Given the description of an element on the screen output the (x, y) to click on. 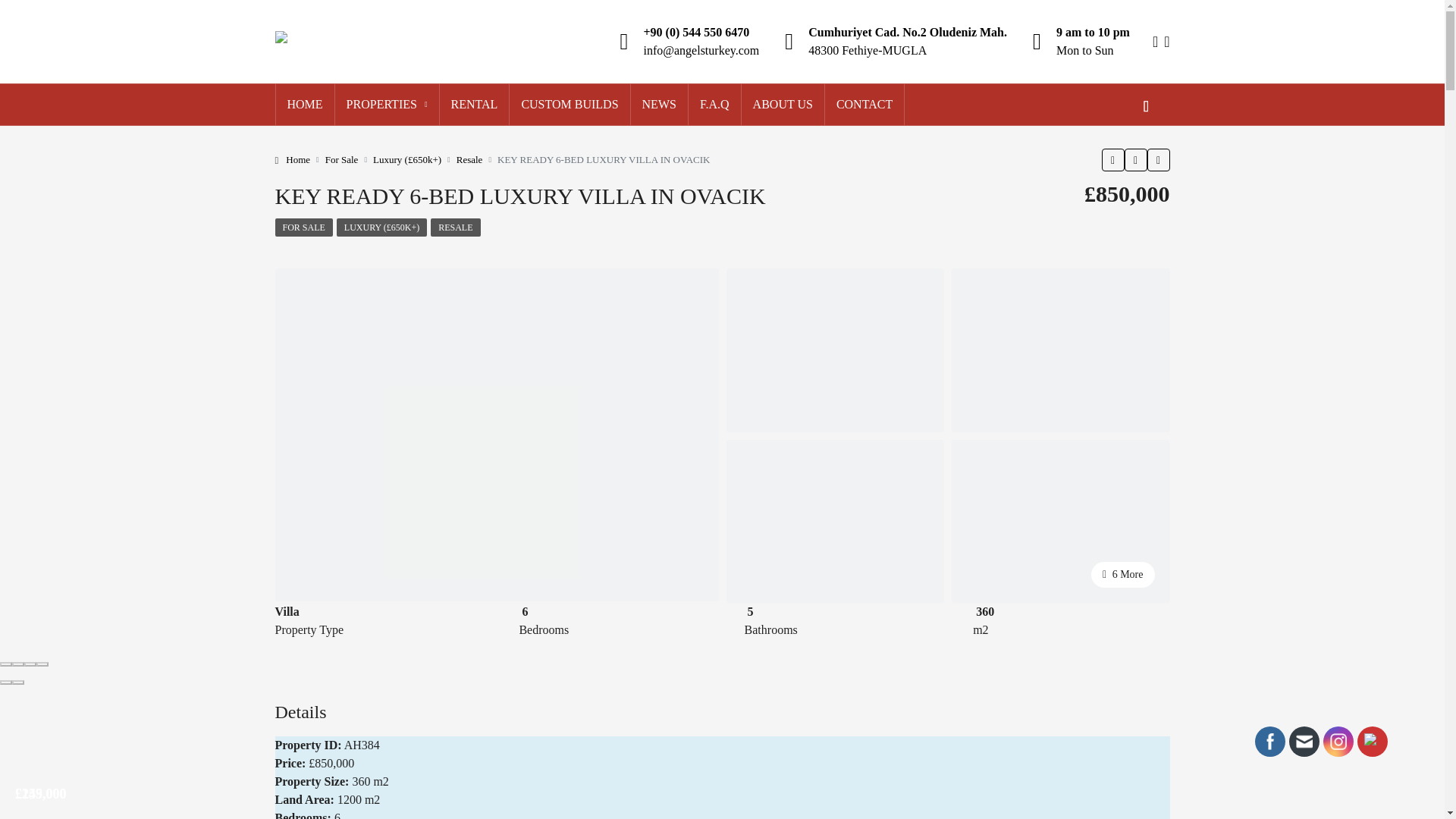
CONTACT (864, 104)
HOME (305, 104)
CUSTOM BUILDS (568, 104)
Toggle fullscreen (30, 663)
F.A.Q (714, 104)
Share (17, 663)
NEWS (658, 104)
ABOUT US (782, 104)
PROPERTIES (386, 104)
RENTAL (474, 104)
